Given the description of an element on the screen output the (x, y) to click on. 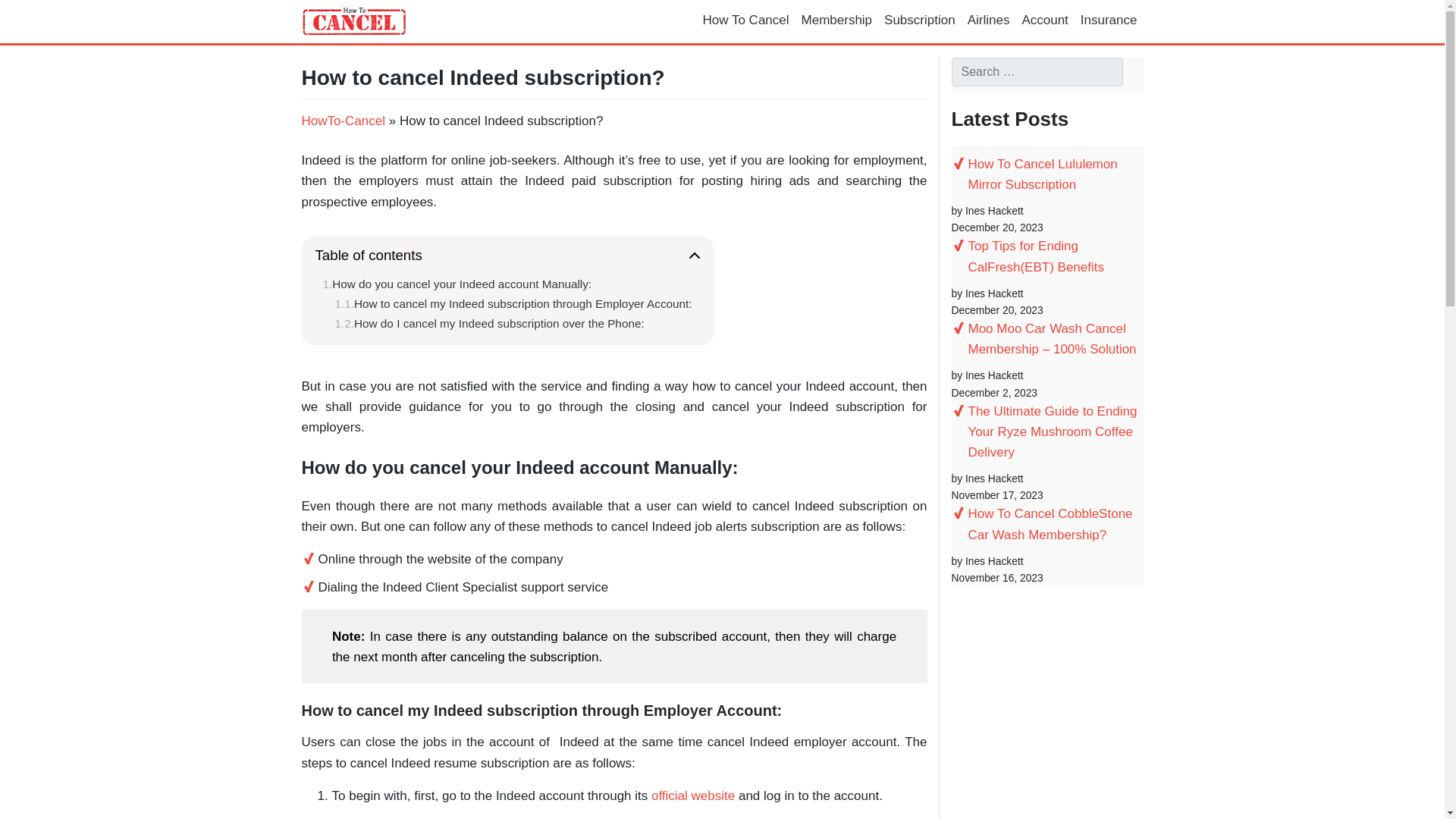
Search (29, 14)
How To Cancel (744, 21)
Airlines (988, 21)
Insurance (1108, 21)
Search for: (1036, 71)
Subscription (918, 21)
Insurance (1108, 21)
How To Cancel Lululemon Mirror Subscription (1046, 173)
How To Cancel CobbleStone Car Wash Membership? (1046, 523)
Account (1044, 21)
Airlines (988, 21)
How To Cancel (744, 21)
Account (1044, 21)
Subscription (918, 21)
Membership (836, 21)
